Given the description of an element on the screen output the (x, y) to click on. 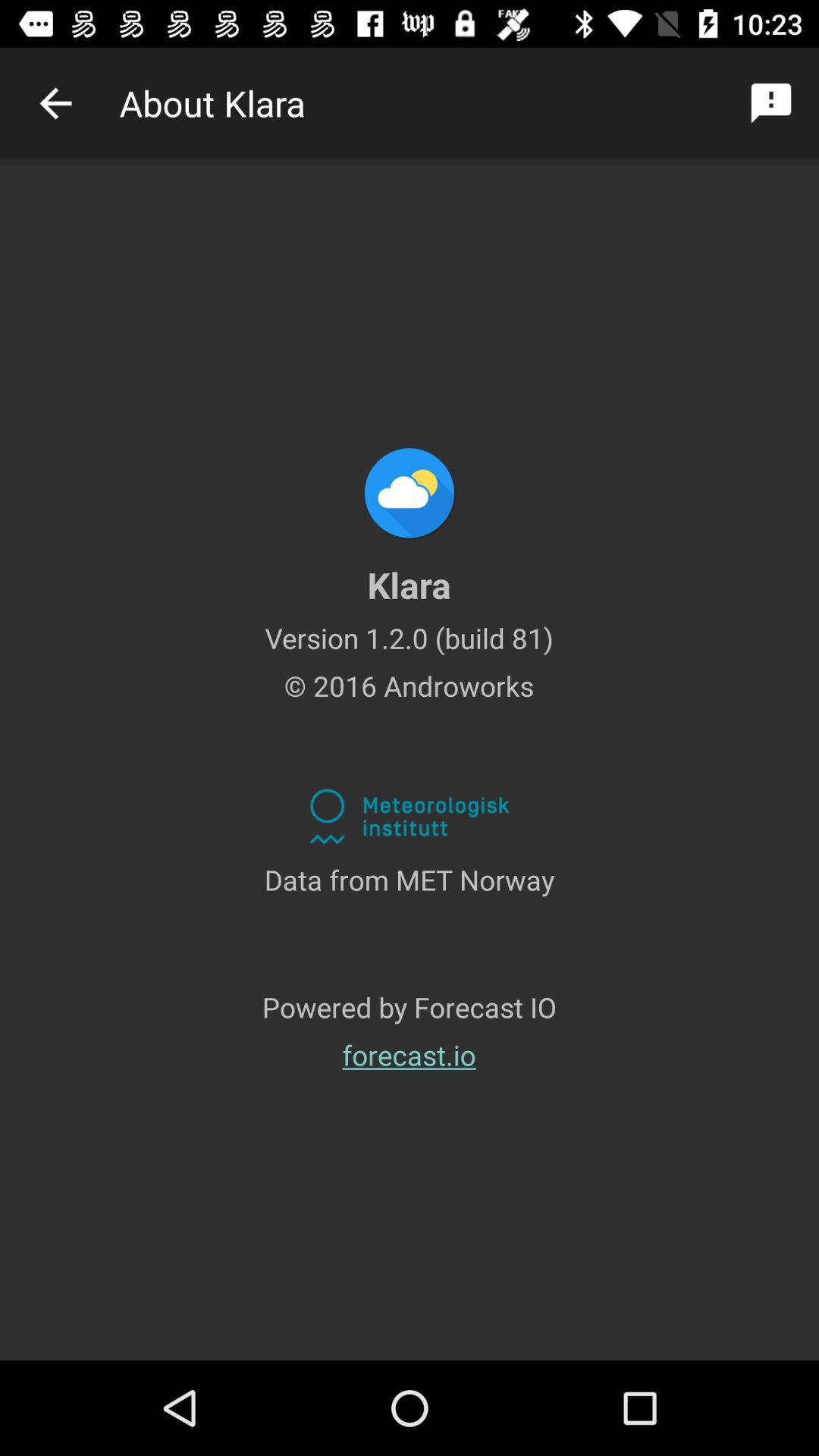
choose icon at the top right corner (771, 103)
